Given the description of an element on the screen output the (x, y) to click on. 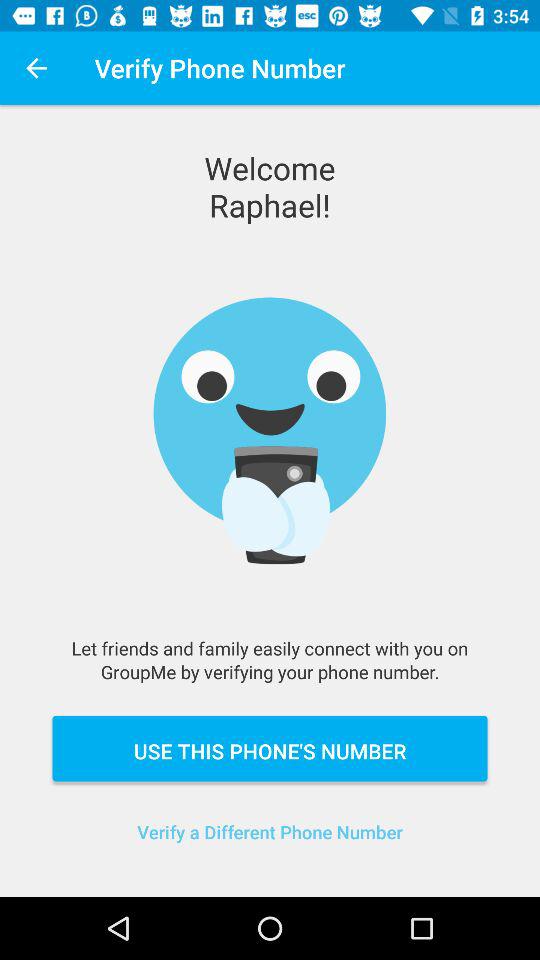
click verify a different item (270, 844)
